Given the description of an element on the screen output the (x, y) to click on. 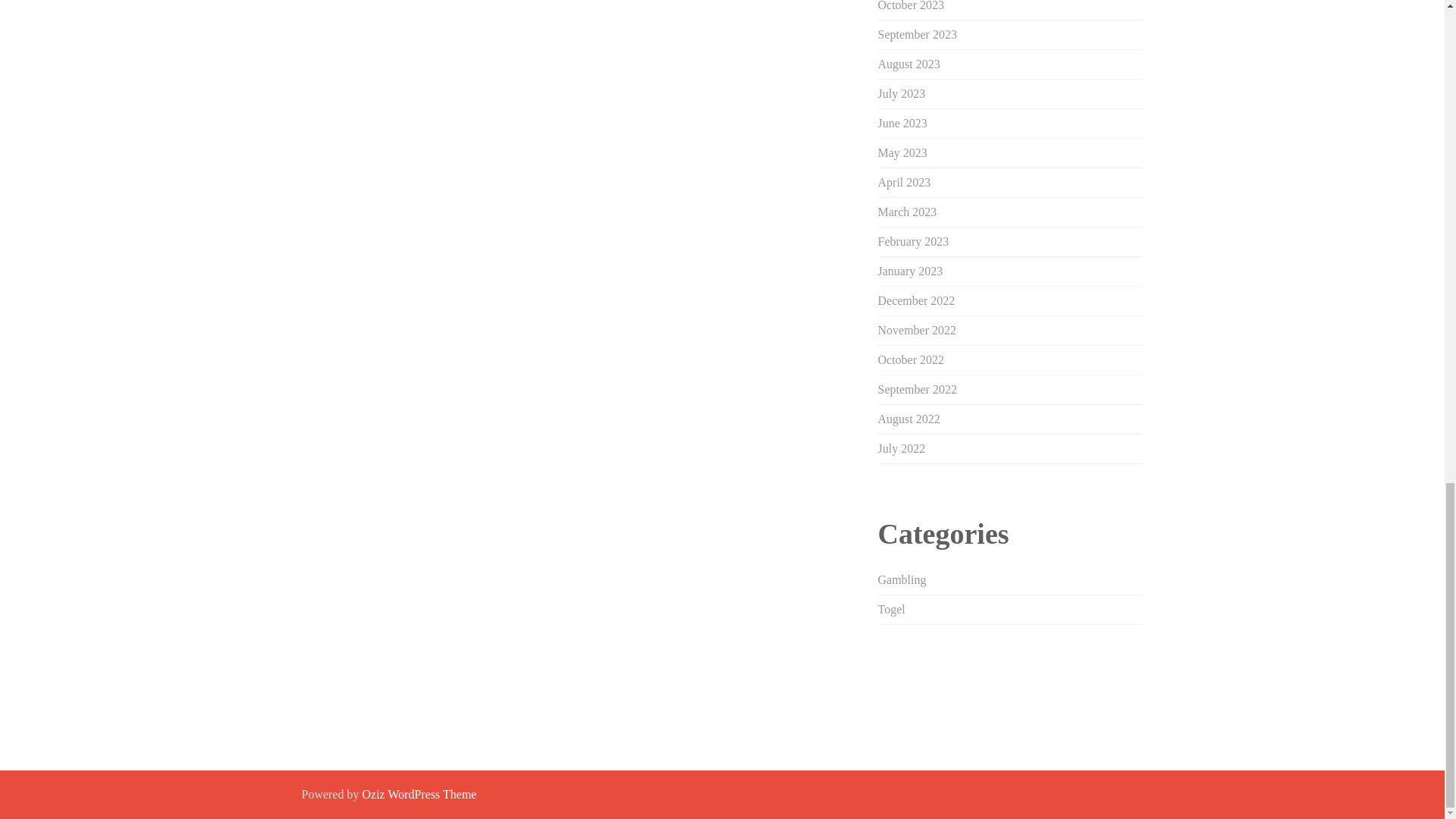
October 2023 (910, 5)
November 2022 (916, 329)
July 2023 (901, 92)
March 2023 (907, 211)
August 2023 (908, 63)
February 2023 (913, 241)
June 2023 (902, 123)
May 2023 (902, 152)
December 2022 (916, 300)
January 2023 (910, 270)
